Given the description of an element on the screen output the (x, y) to click on. 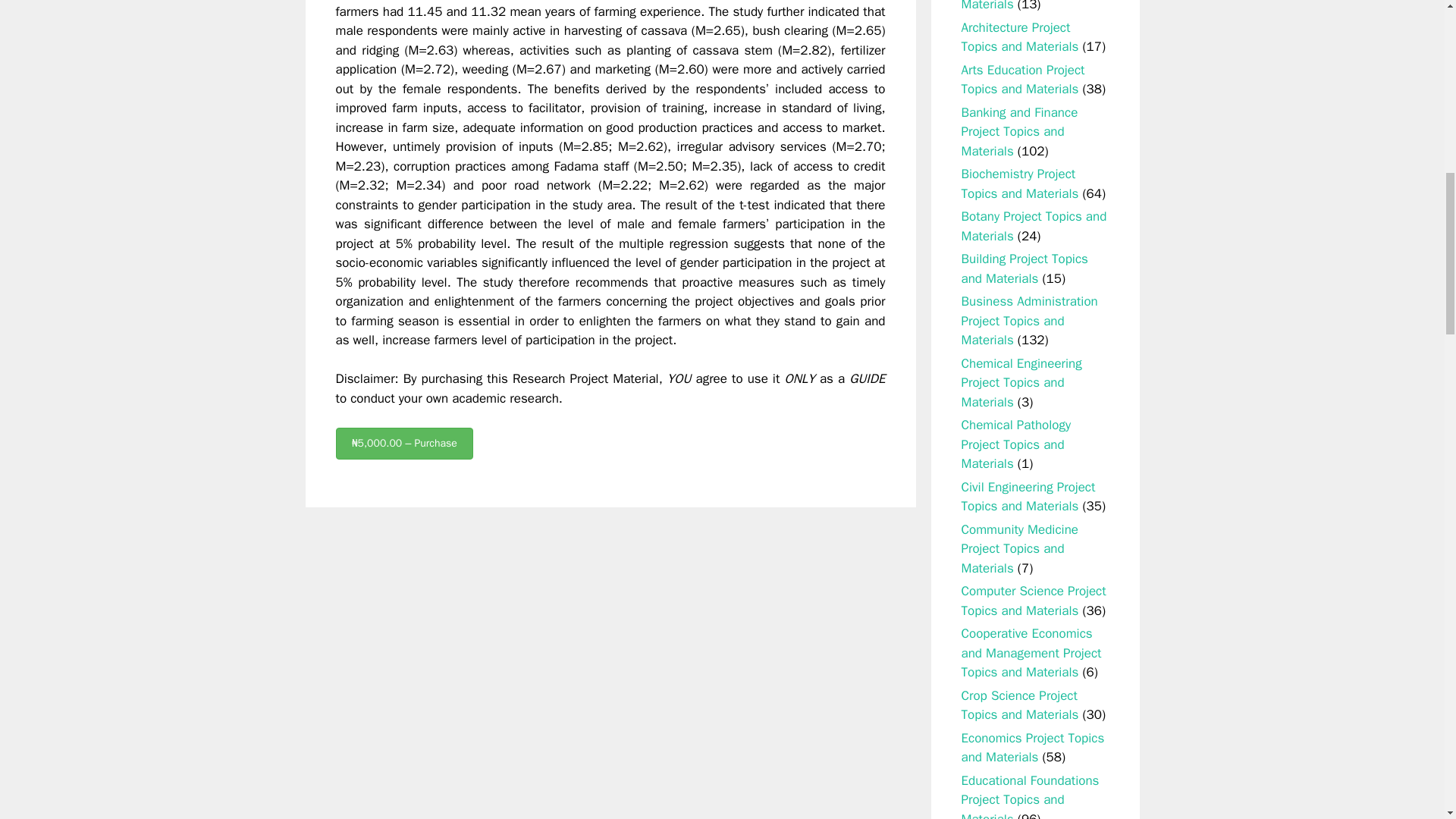
Chemical Pathology Project Topics and Materials (1015, 443)
Scroll back to top (1406, 720)
Business Administration Project Topics and Materials (1028, 320)
Architecture Project Topics and Materials (1019, 37)
Educational Foundations Project Topics and Materials (1029, 796)
Archaeology and Tourism Project Topics and Materials (1031, 6)
Banking and Finance Project Topics and Materials (1019, 131)
Crop Science Project Topics and Materials (1019, 705)
Economics Project Topics and Materials (1032, 747)
